Given the description of an element on the screen output the (x, y) to click on. 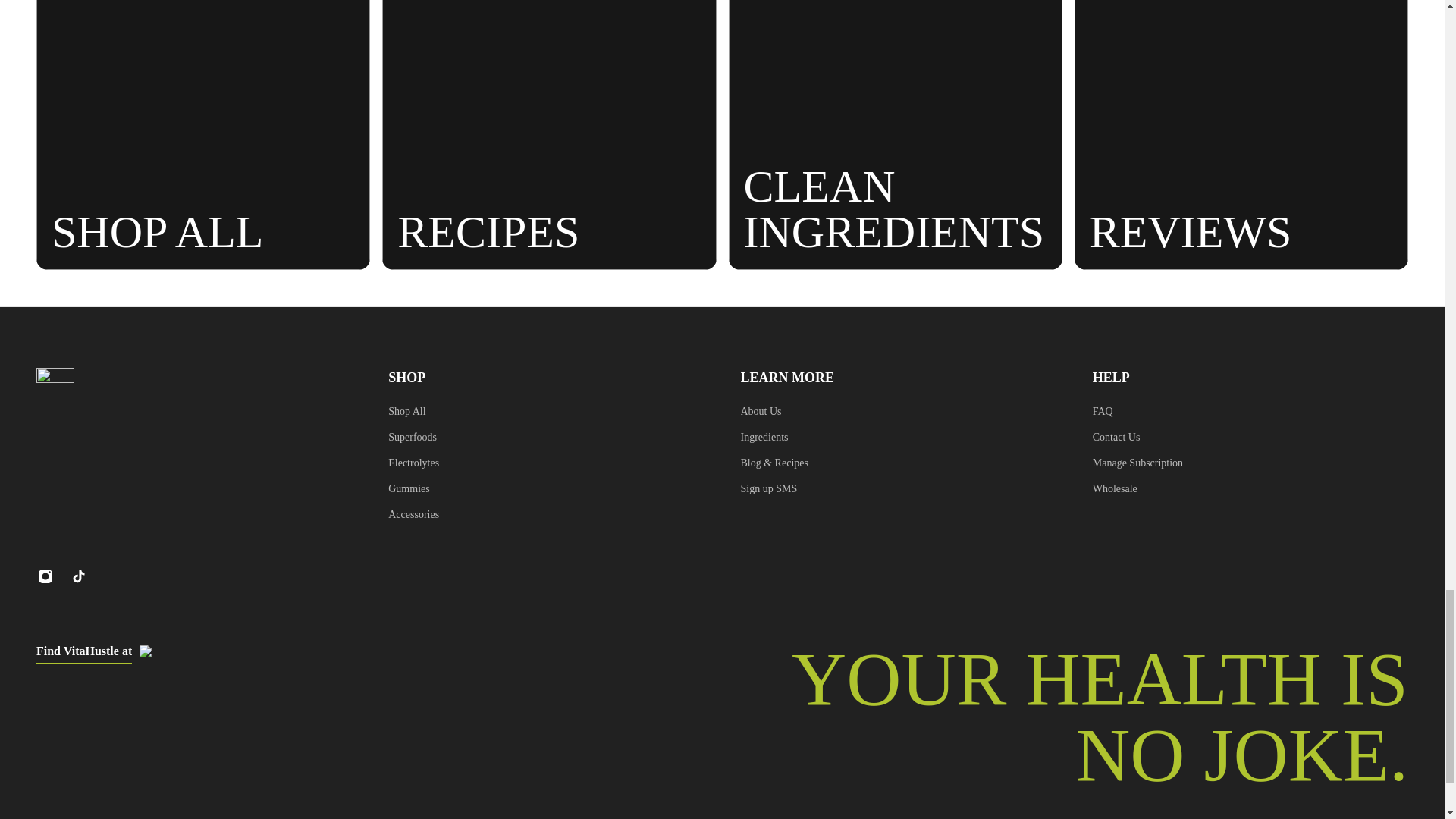
Manage Subscription (1137, 463)
Accessories (413, 514)
Contact Us (1137, 437)
Wholesale (1137, 488)
Superfoods (413, 437)
FAQ (1137, 411)
About Us (773, 411)
Shop All (413, 411)
Sign up SMS (773, 488)
Gummies (413, 488)
